Given the description of an element on the screen output the (x, y) to click on. 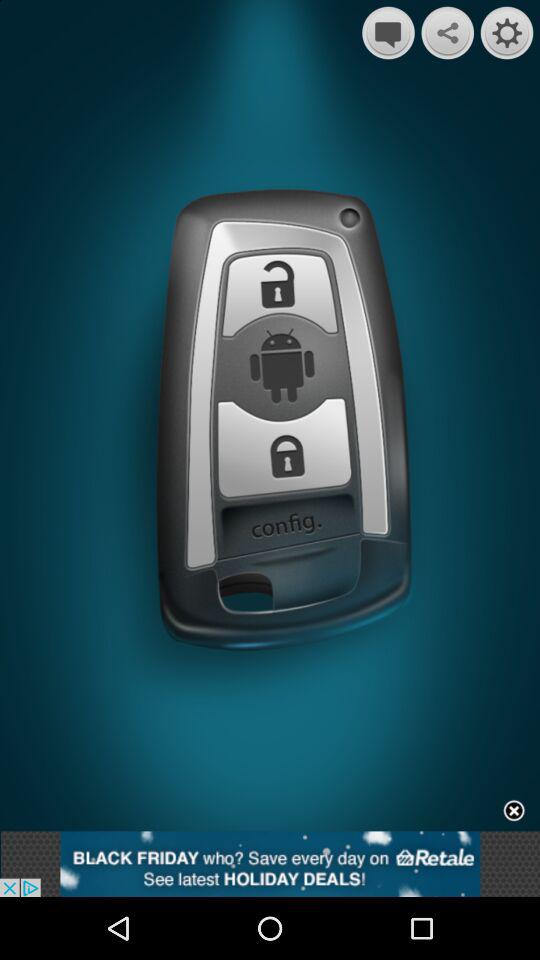
go to close option (513, 811)
